Given the description of an element on the screen output the (x, y) to click on. 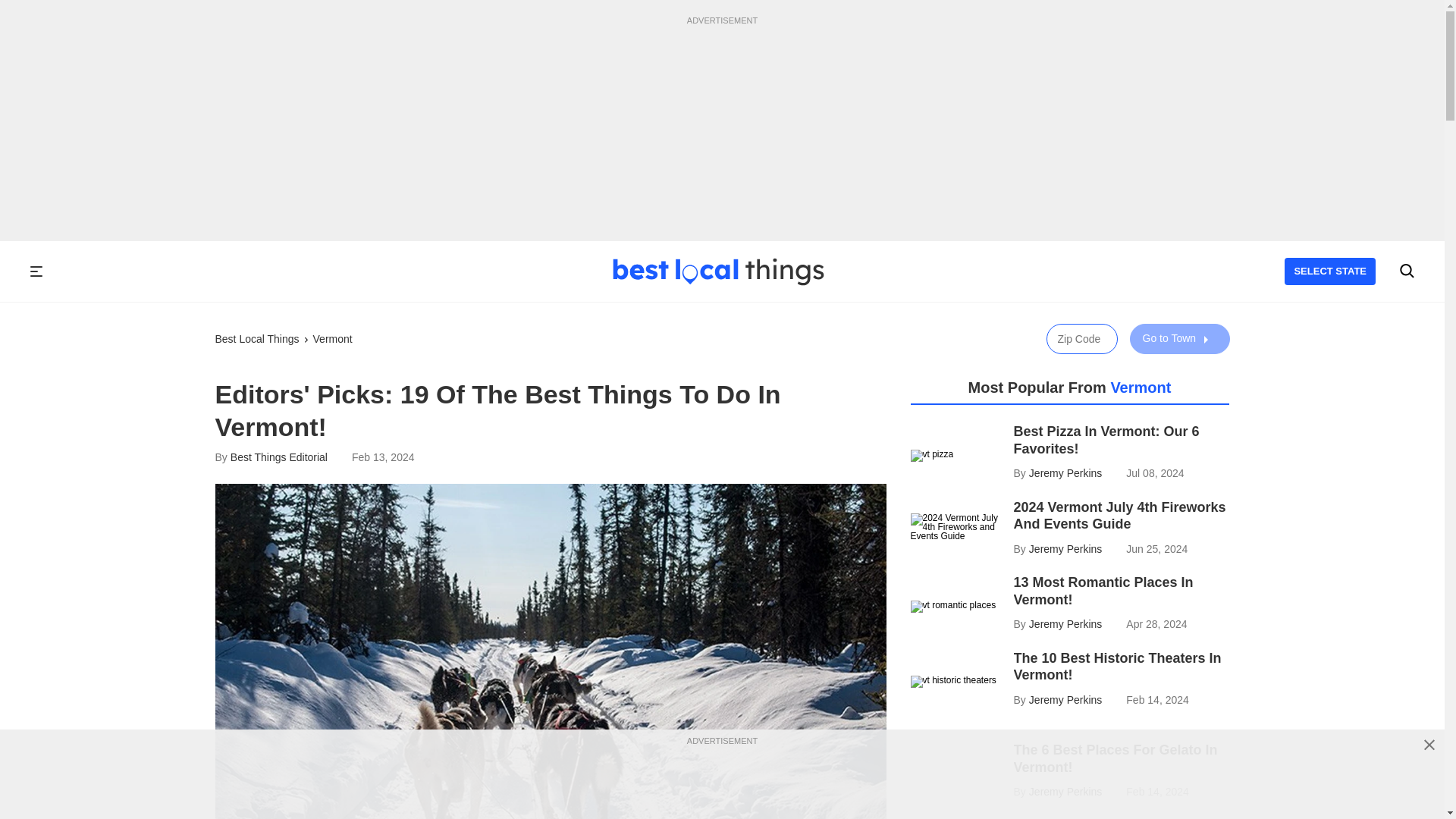
SELECT STATE (1329, 271)
Five digit zip code (1082, 338)
